Given the description of an element on the screen output the (x, y) to click on. 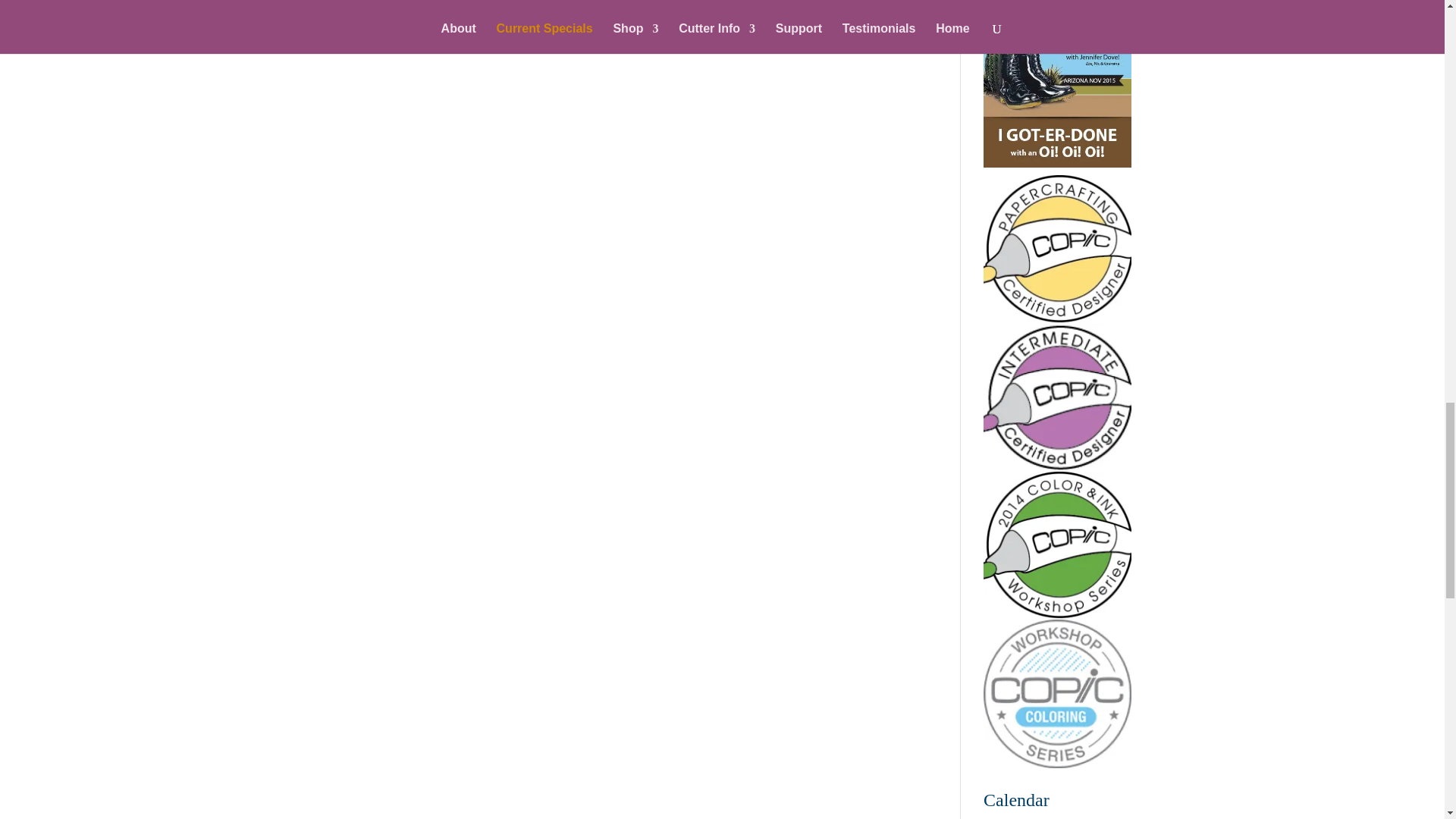
Copic Intermediate Certification (1057, 397)
Copic Standard Certification (1057, 248)
Copic Workshop Certification (1057, 545)
Copic Workshop (1057, 693)
Copic Boot Camp (1057, 163)
